Given the description of an element on the screen output the (x, y) to click on. 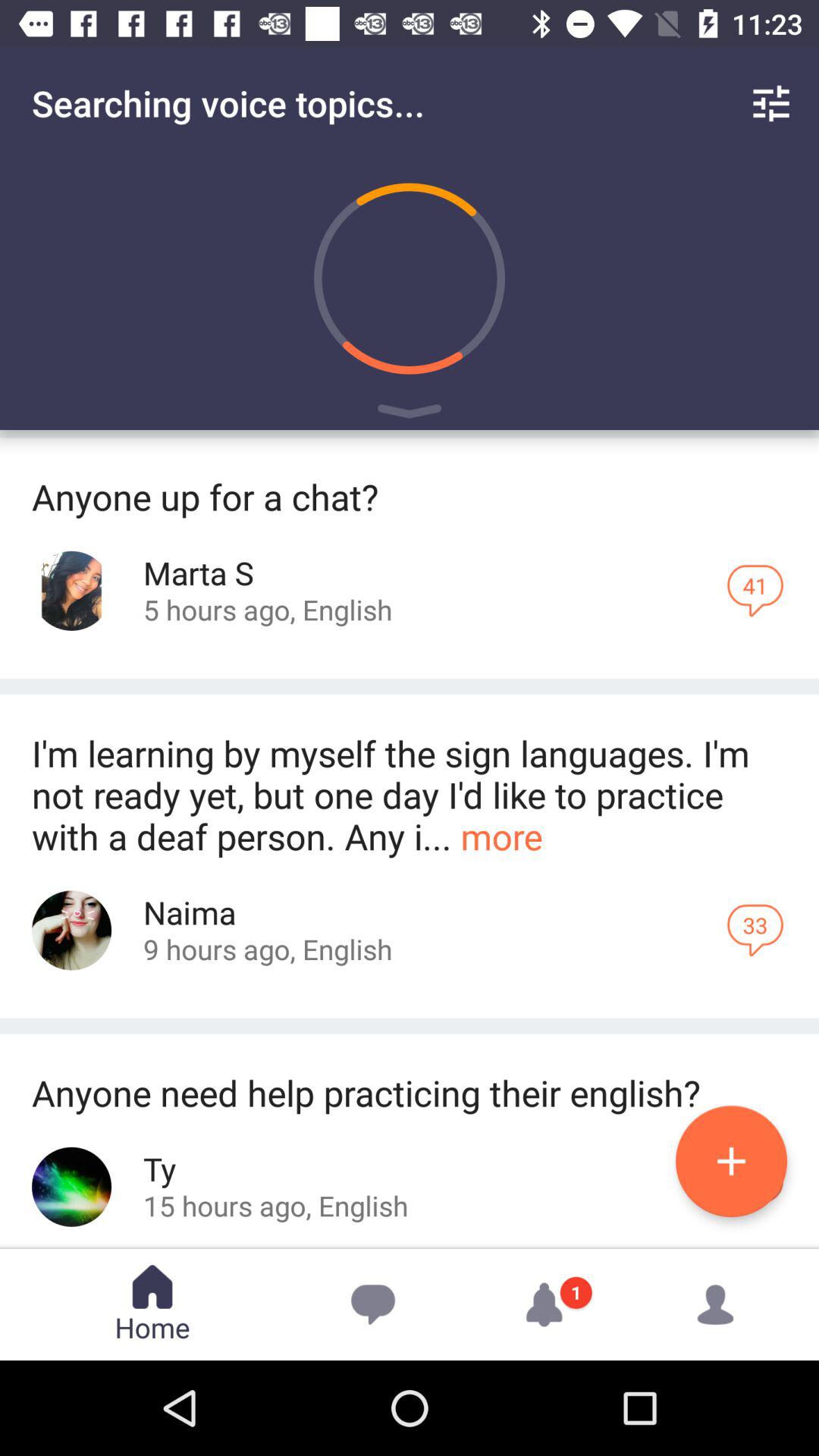
profile picture (71, 590)
